Given the description of an element on the screen output the (x, y) to click on. 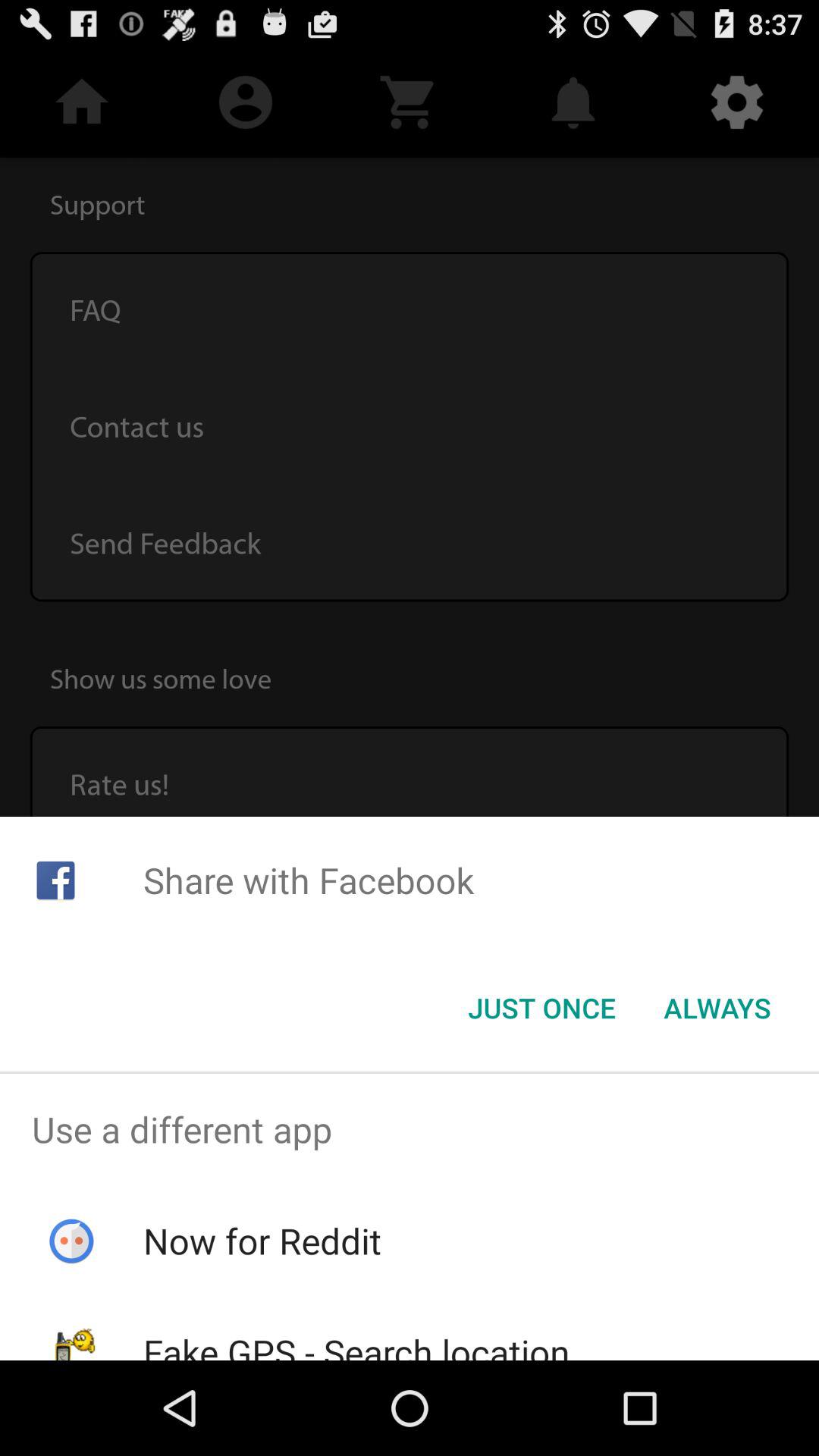
swipe to the just once item (541, 1007)
